Given the description of an element on the screen output the (x, y) to click on. 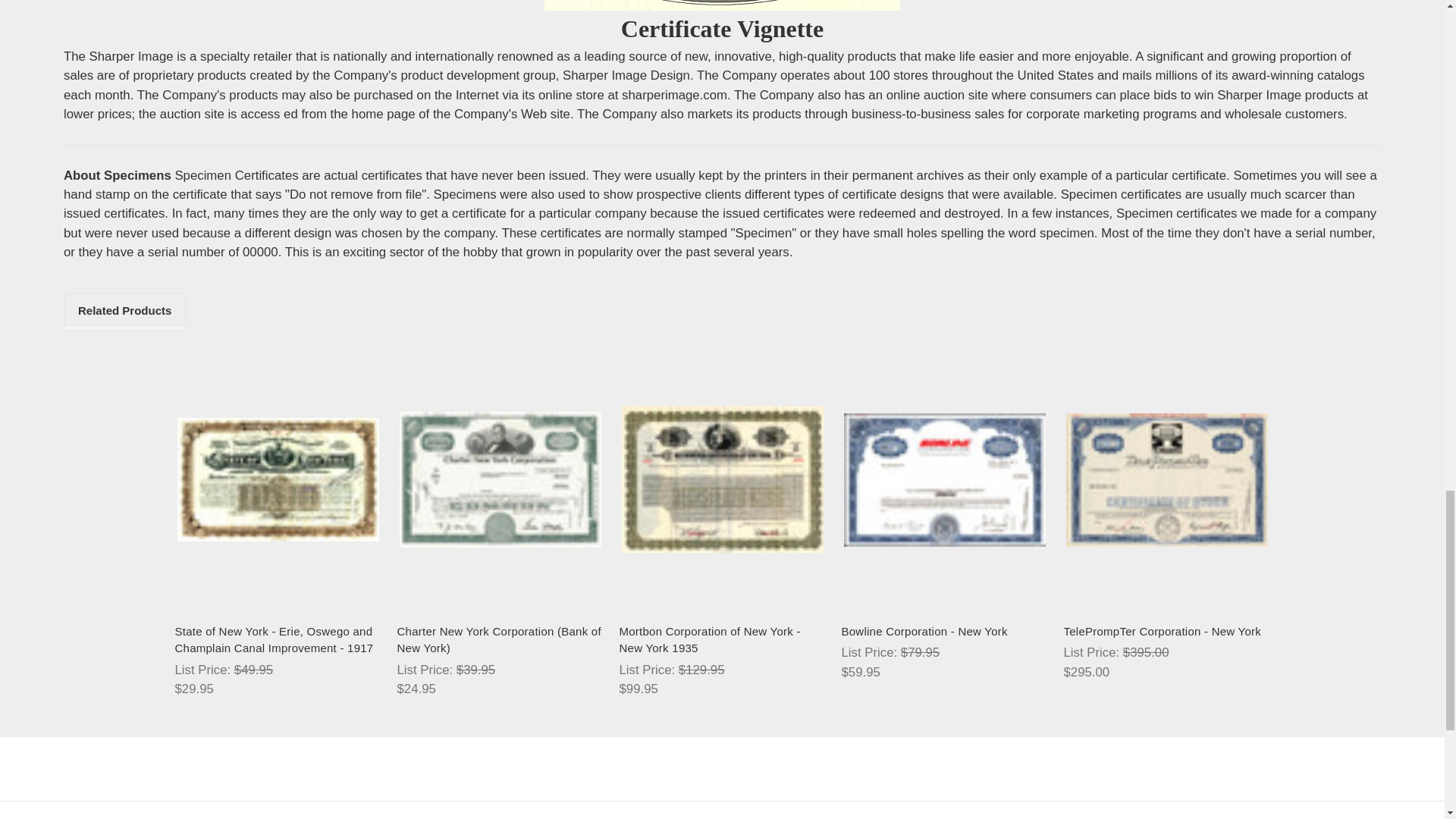
TelePrompTer Corporation - New York (1166, 480)
Mortbon Corporation of New York  - New York 1935 (722, 479)
Bowline Corporation - New York (944, 480)
